Given the description of an element on the screen output the (x, y) to click on. 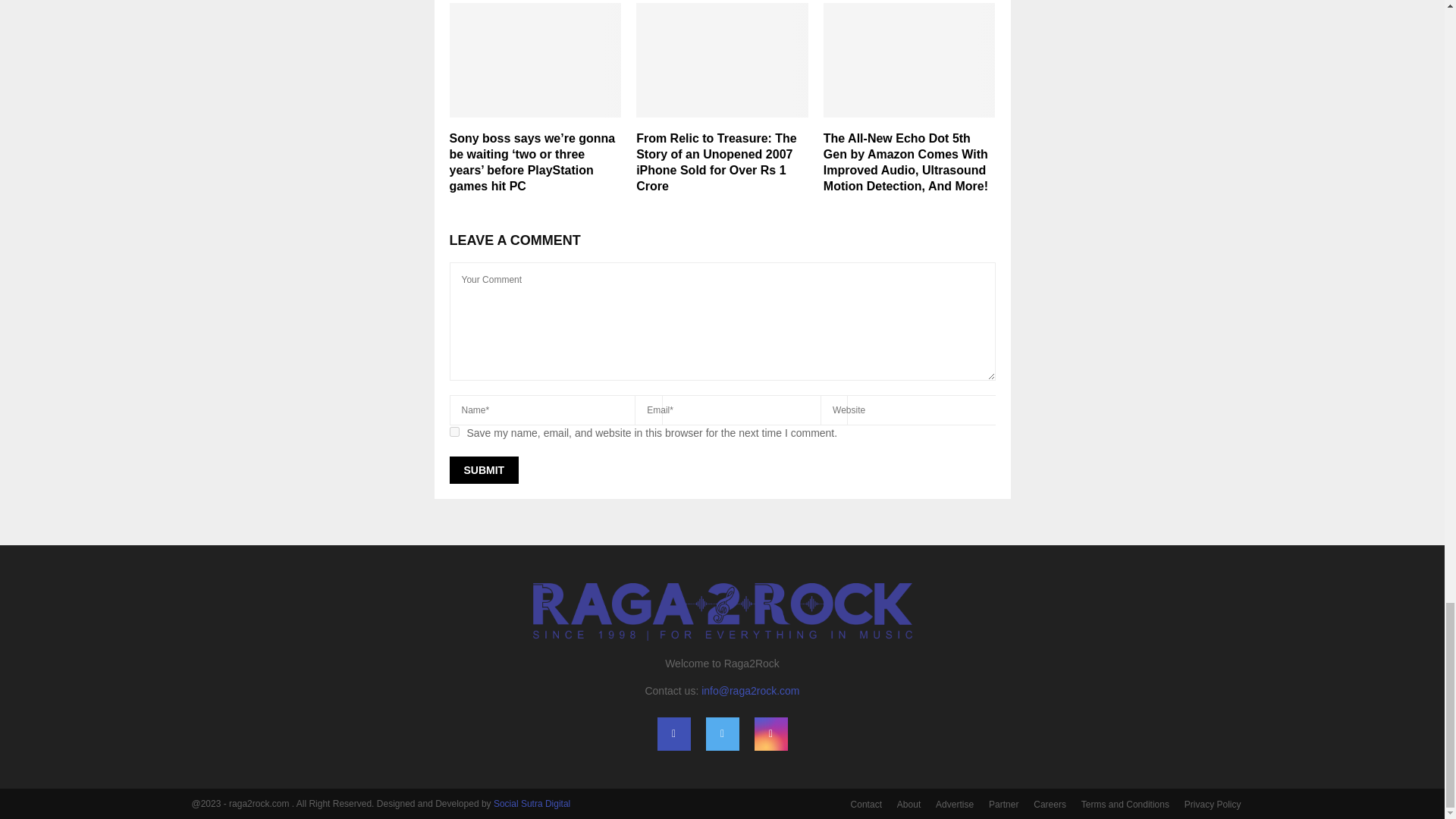
yes (453, 431)
Submit (483, 470)
